Given the description of an element on the screen output the (x, y) to click on. 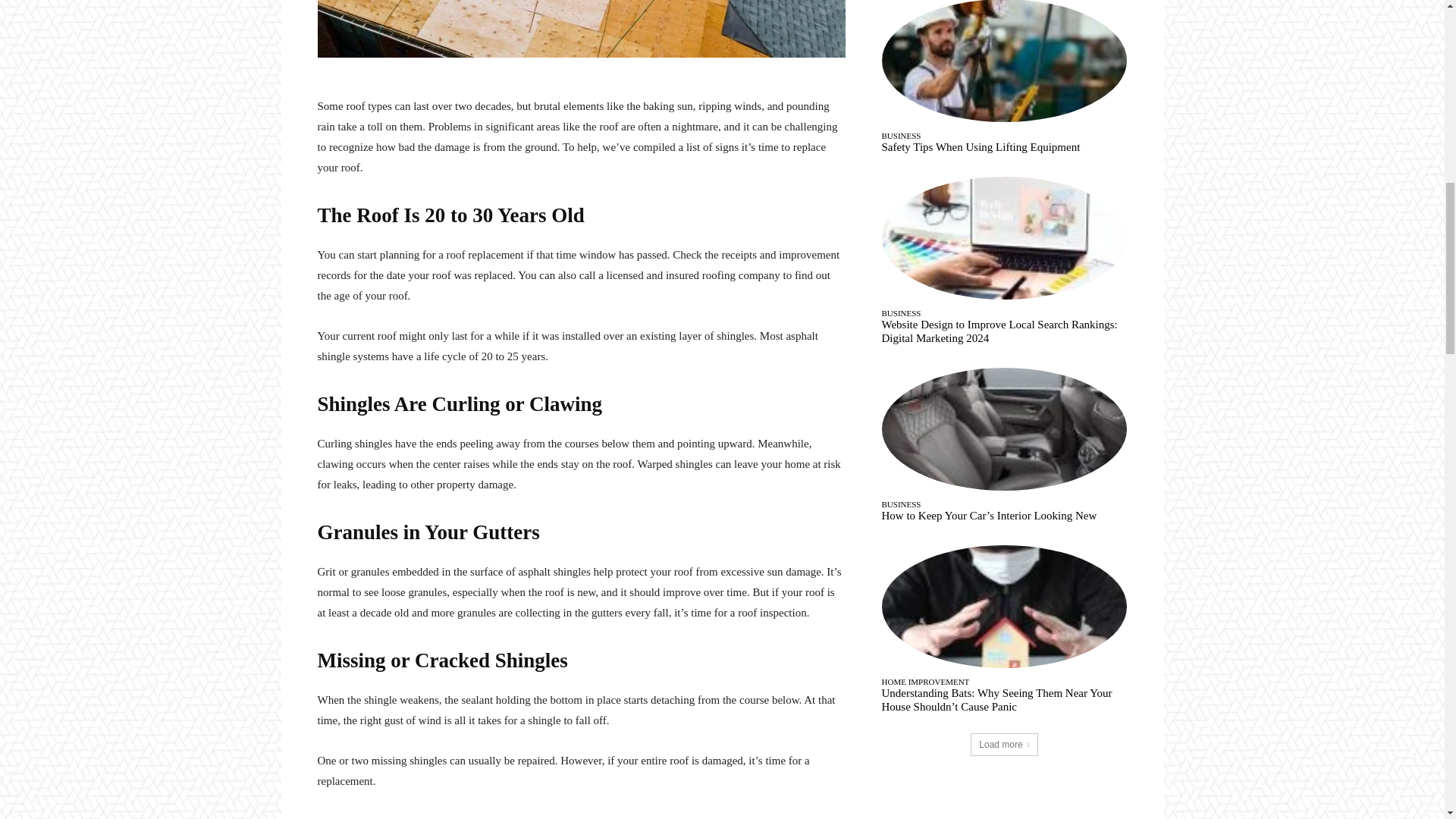
Telltale Signs You Need a New Roof (580, 28)
